Given the description of an element on the screen output the (x, y) to click on. 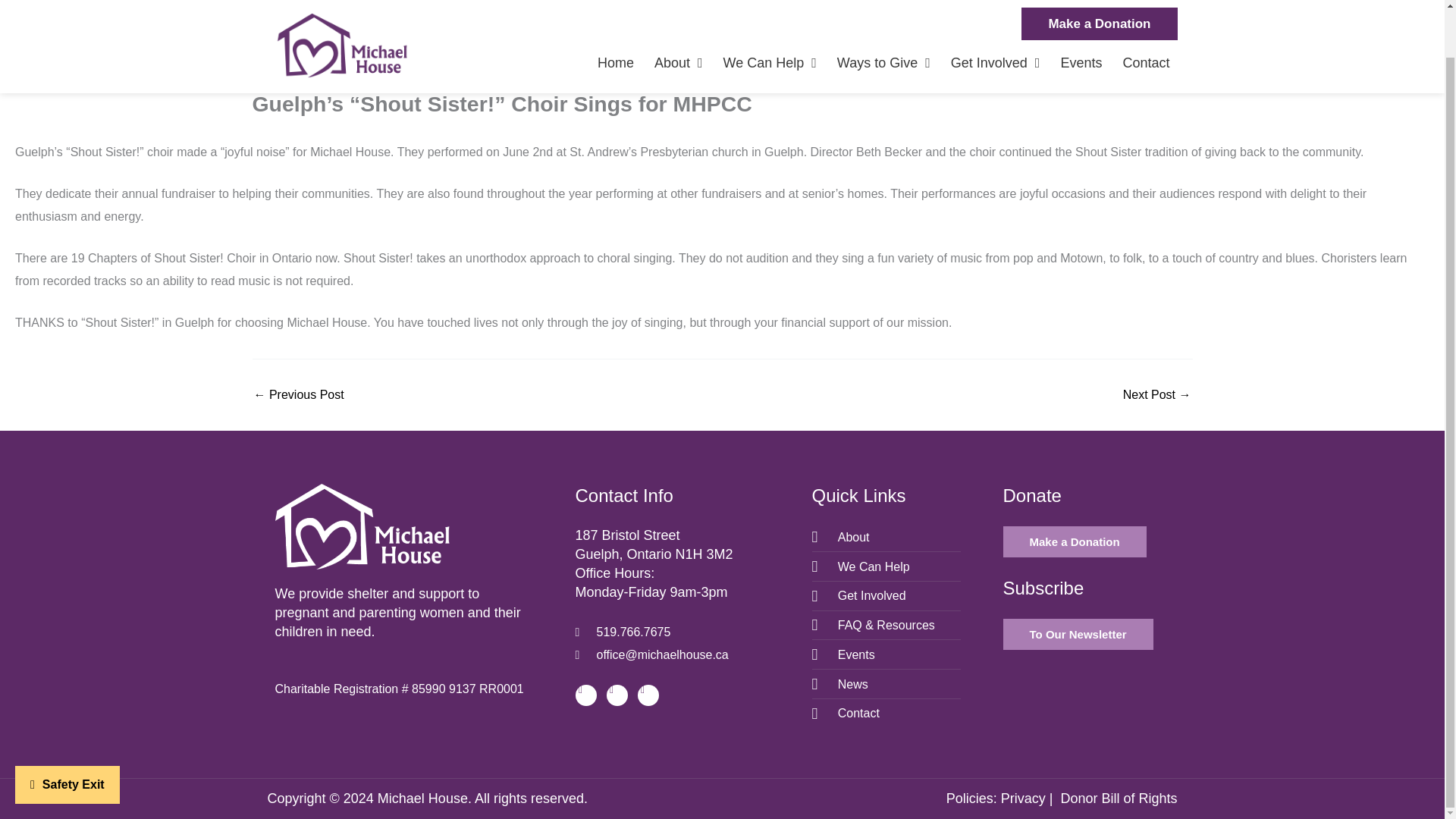
Events (1080, 13)
Home (614, 13)
About (678, 13)
Ways to Give (883, 13)
Reno Da Maren Memorial Car Show Supports MH (1156, 395)
We Can Help (769, 13)
Get Involved (995, 13)
HomeLife Realty Garage Sale (298, 395)
Contact (1145, 13)
Safety Exit (66, 733)
